Given the description of an element on the screen output the (x, y) to click on. 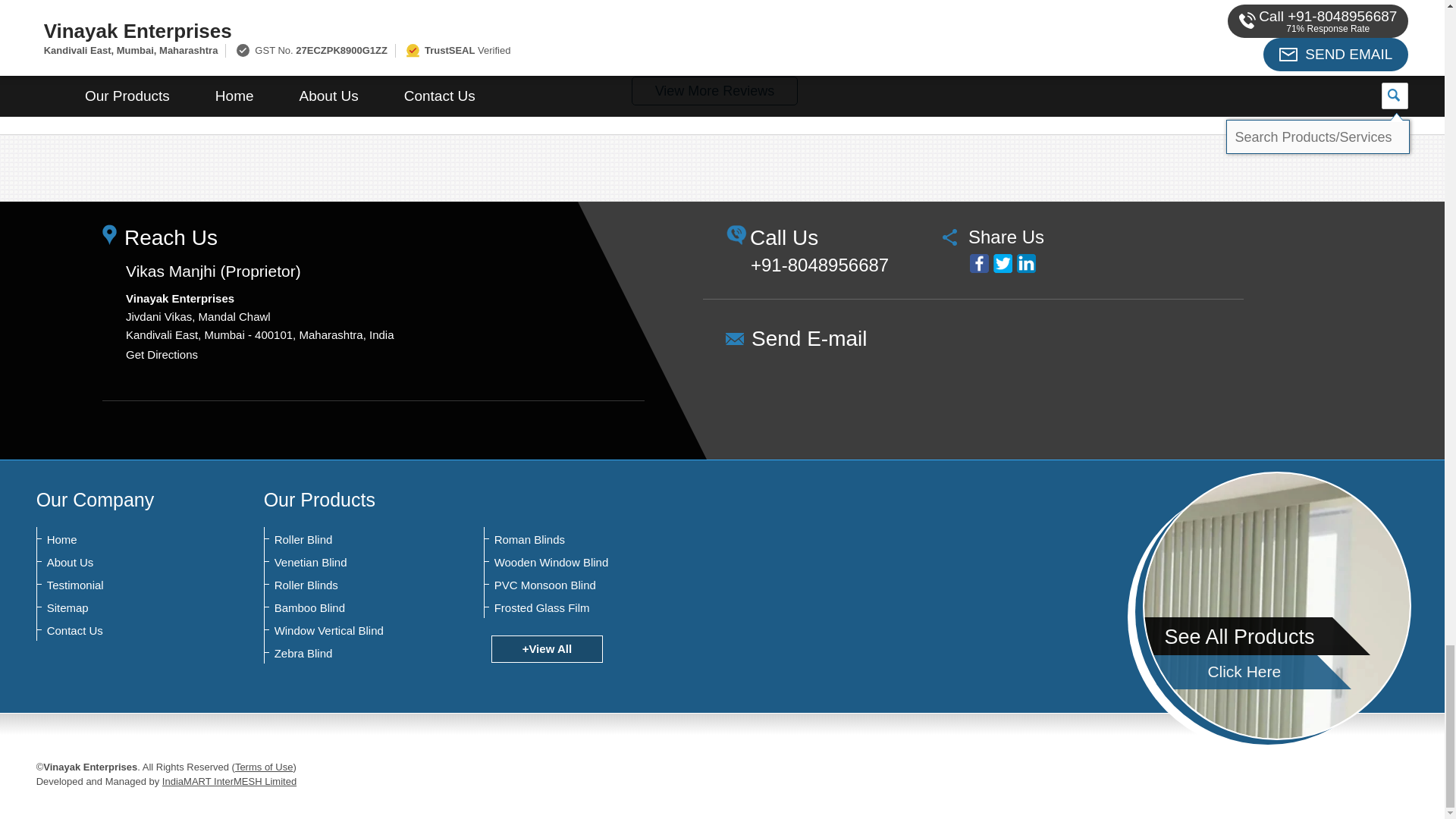
View More Reviews (714, 90)
Facebook (978, 262)
Twitter (1001, 262)
Get Directions (161, 354)
